Given the description of an element on the screen output the (x, y) to click on. 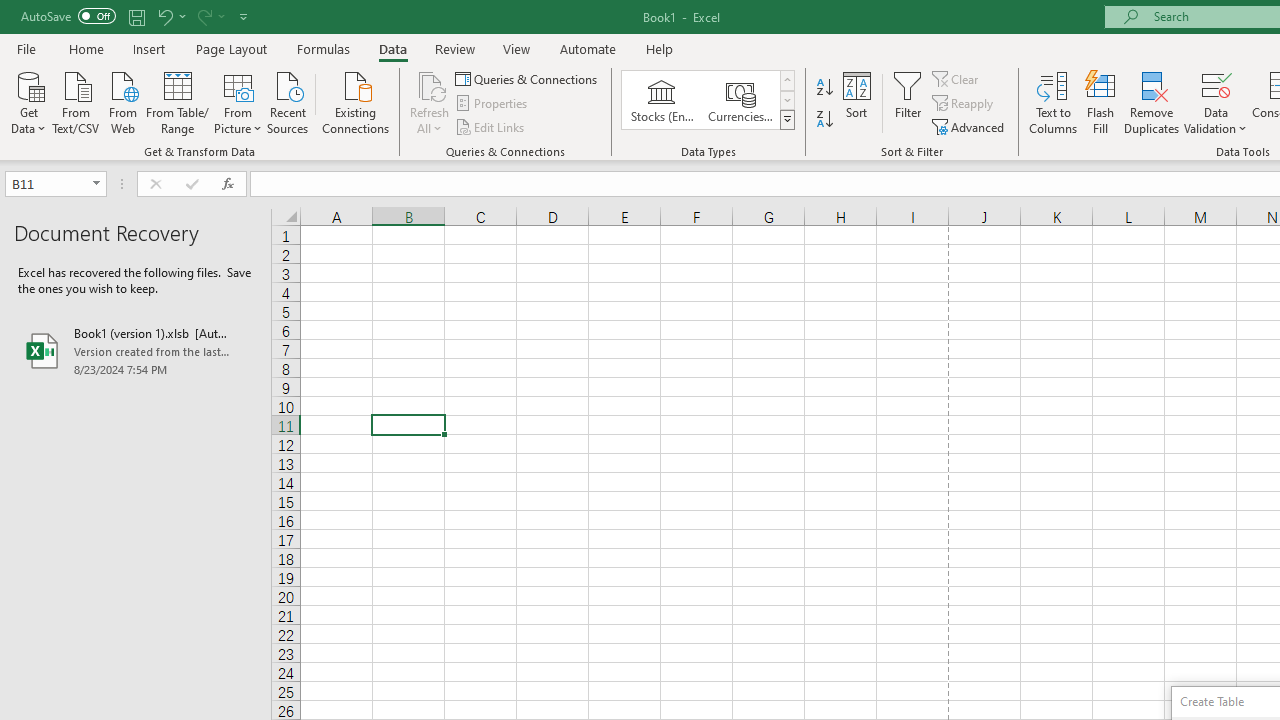
AutomationID: ConvertToLinkedEntity (708, 99)
Sort A to Z (824, 87)
Book1 (version 1).xlsb  [AutoRecovered] (136, 350)
AutoSave (68, 16)
Reapply (964, 103)
Refresh All (429, 102)
Flash Fill (1101, 102)
Stocks (English) (662, 100)
Queries & Connections (527, 78)
